Given the description of an element on the screen output the (x, y) to click on. 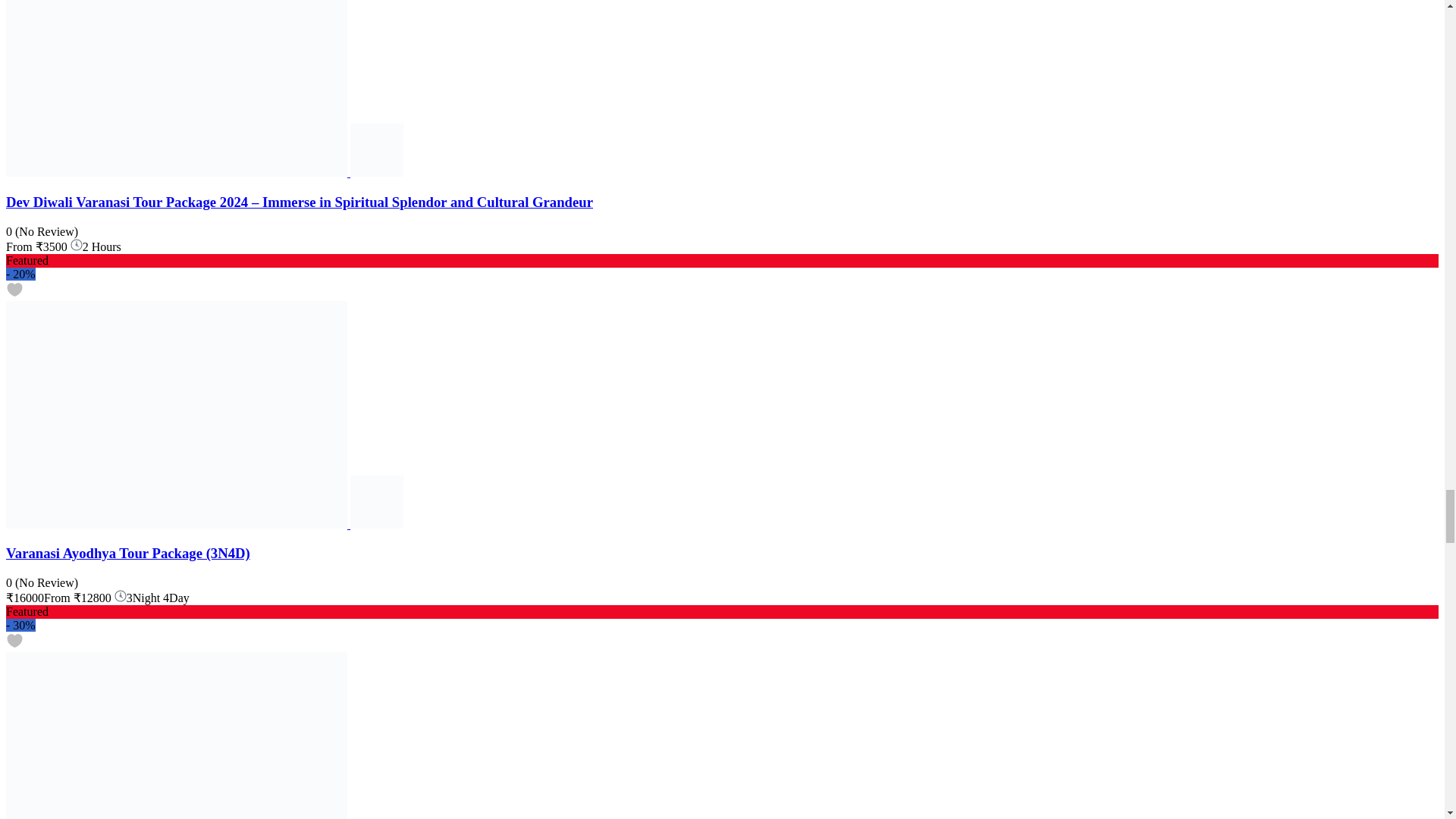
TripCosmos co (376, 523)
TripCosmos co (376, 172)
